Given the description of an element on the screen output the (x, y) to click on. 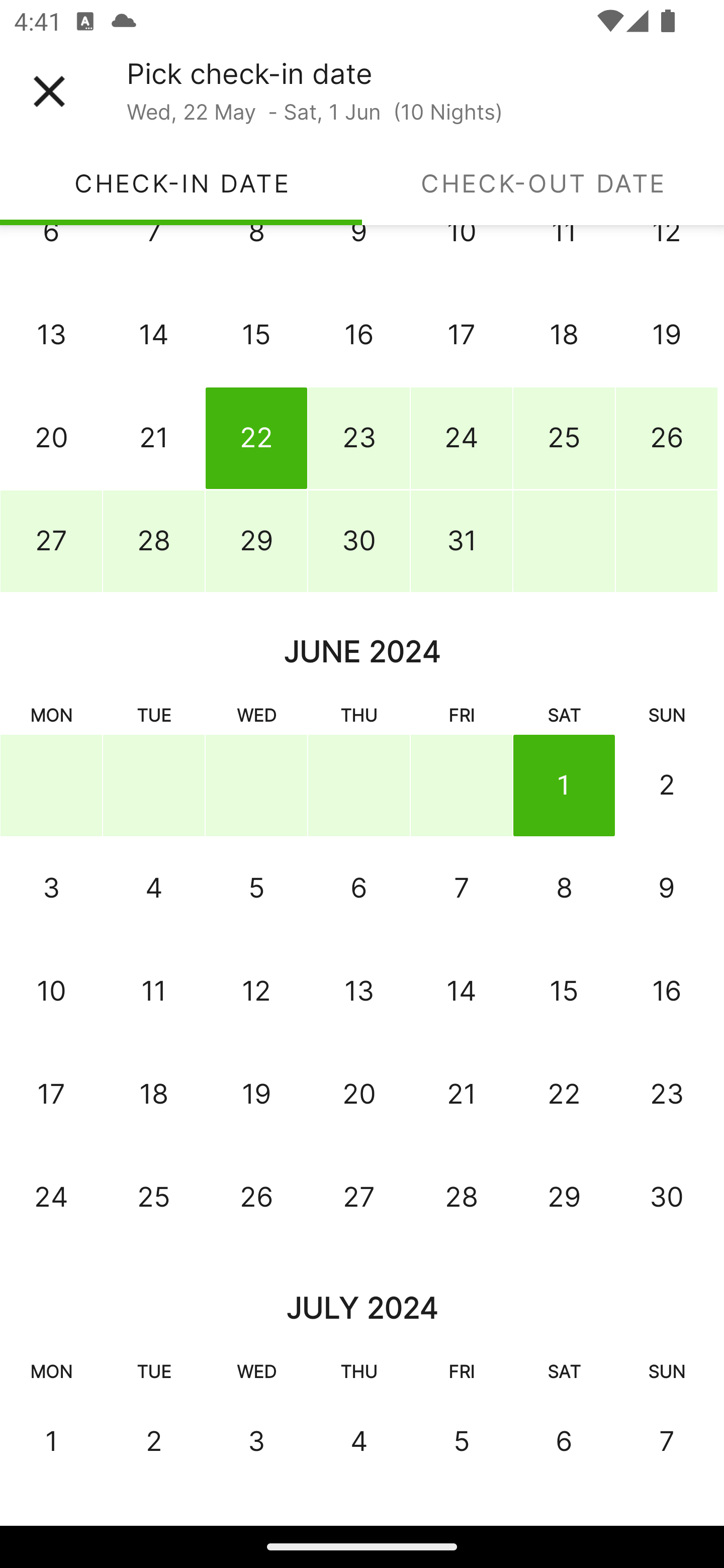
Check-out Date CHECK-OUT DATE (543, 183)
